Given the description of an element on the screen output the (x, y) to click on. 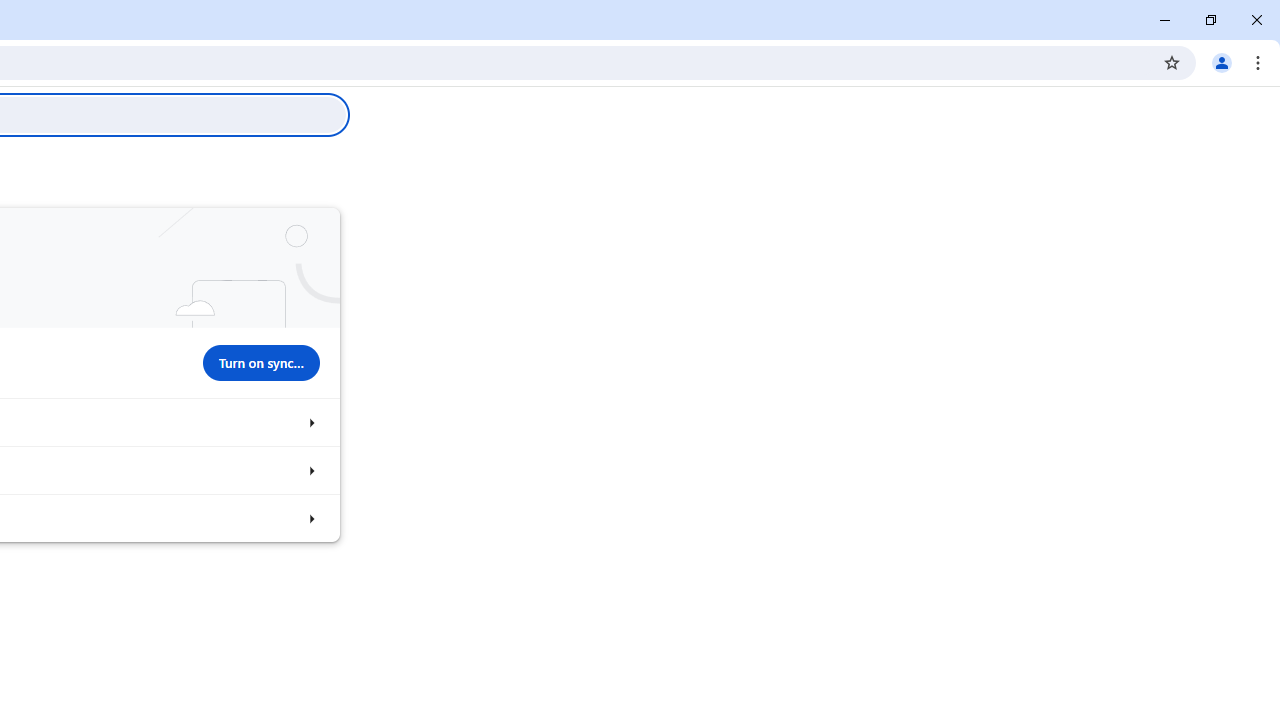
Sync and Google services (310, 422)
Import bookmarks and settings (310, 517)
Customize your Chrome profile (310, 470)
